Given the description of an element on the screen output the (x, y) to click on. 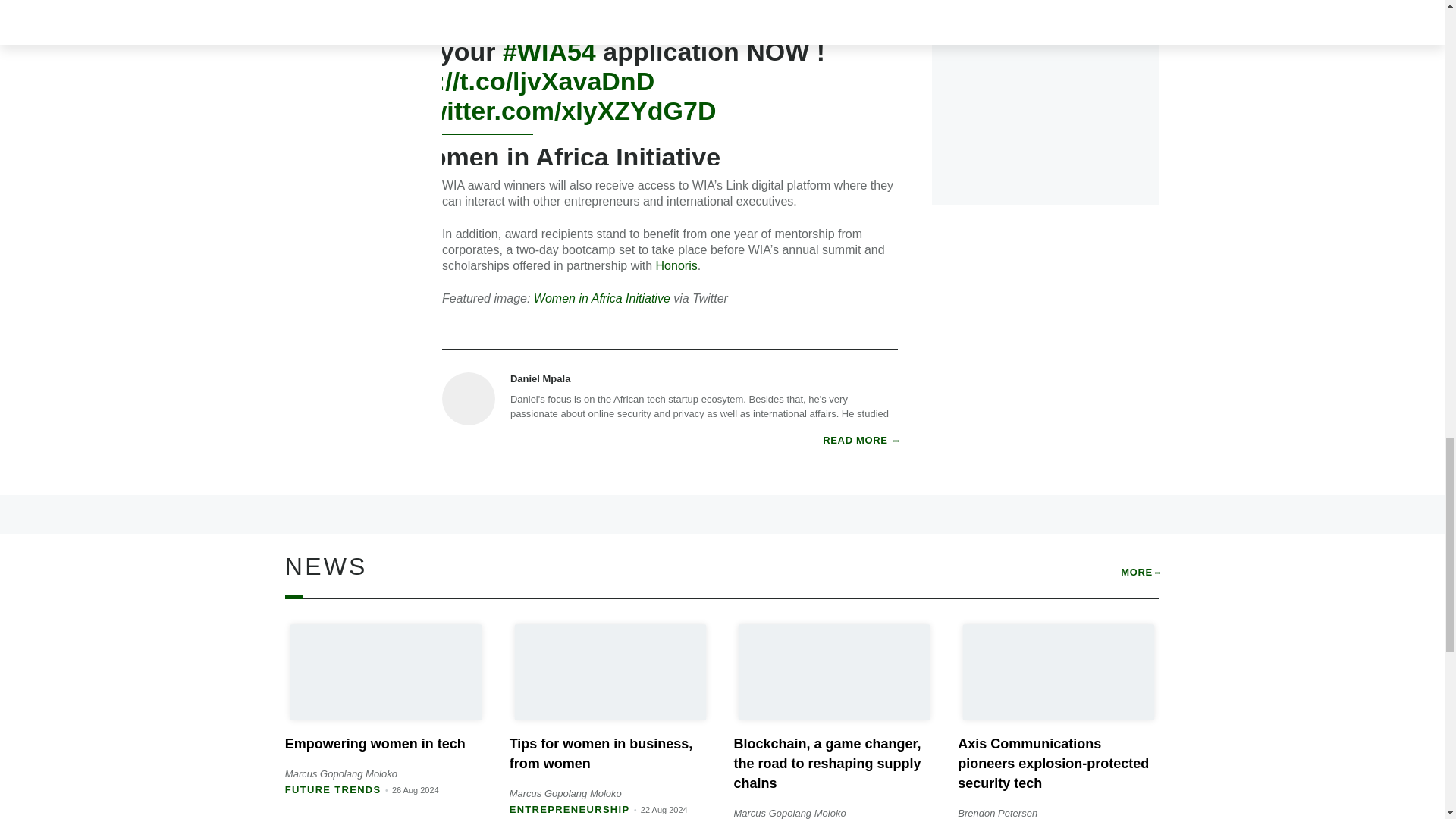
ENTREPRENEURSHIP (569, 808)
Marcus Gopolang Moloko (341, 773)
FUTURE TRENDS (333, 789)
Marcus Gopolang Moloko (565, 793)
Tips for women in business, from women (601, 753)
22 Aug 2024 (663, 809)
READ MORE (860, 440)
Women in Africa Initiative (601, 297)
Empowering women in tech (375, 743)
Honoris (676, 265)
